Given the description of an element on the screen output the (x, y) to click on. 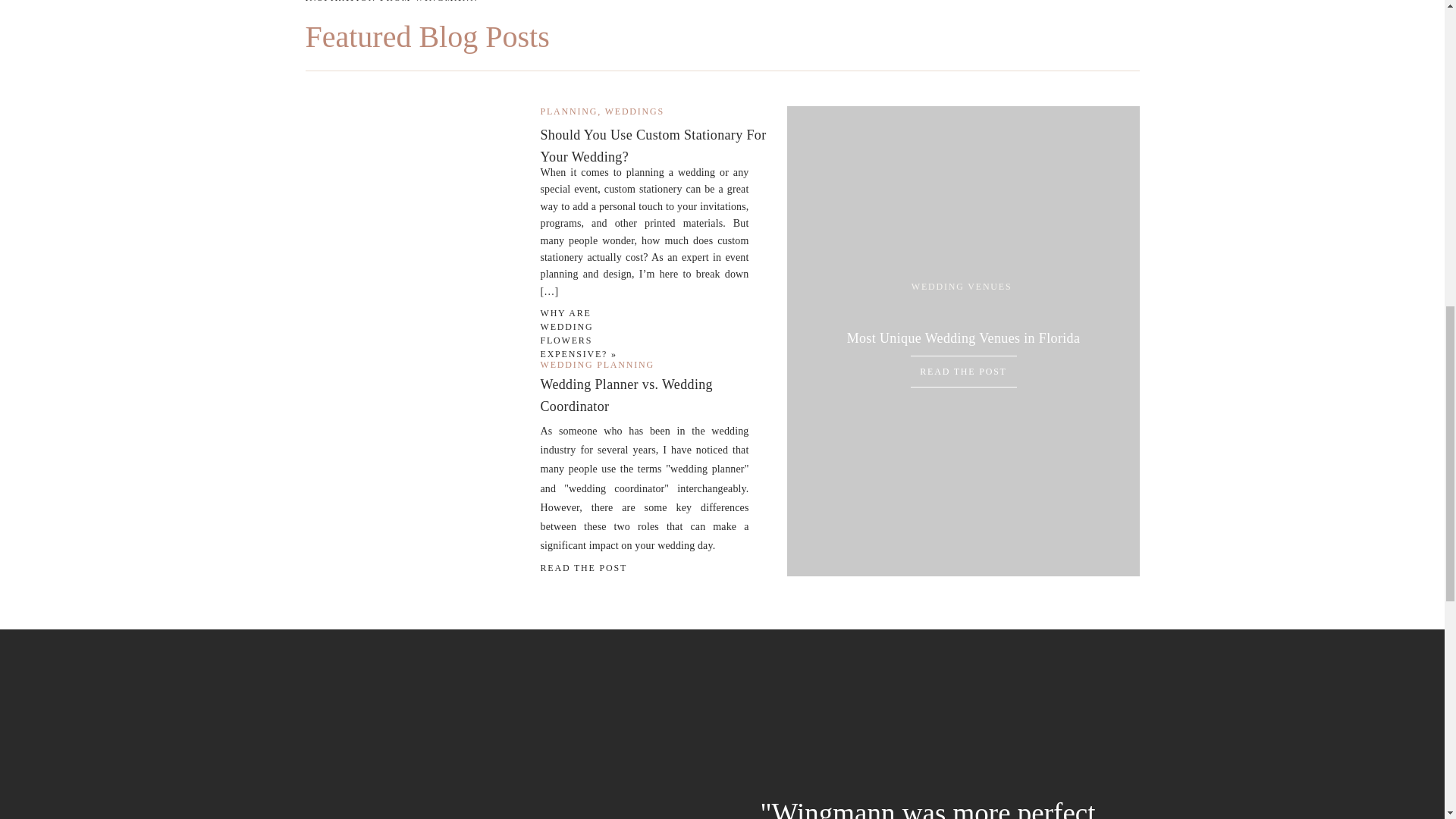
WHY ARE WEDDING FLOWERS EXPENSIVE? (573, 333)
READ THE POST (962, 371)
WEDDINGS (634, 111)
Should You Use Custom Stationary For Your Wedding? (652, 145)
PLANNING (568, 111)
Most Unique Wedding Venues in Florida (963, 340)
